Given the description of an element on the screen output the (x, y) to click on. 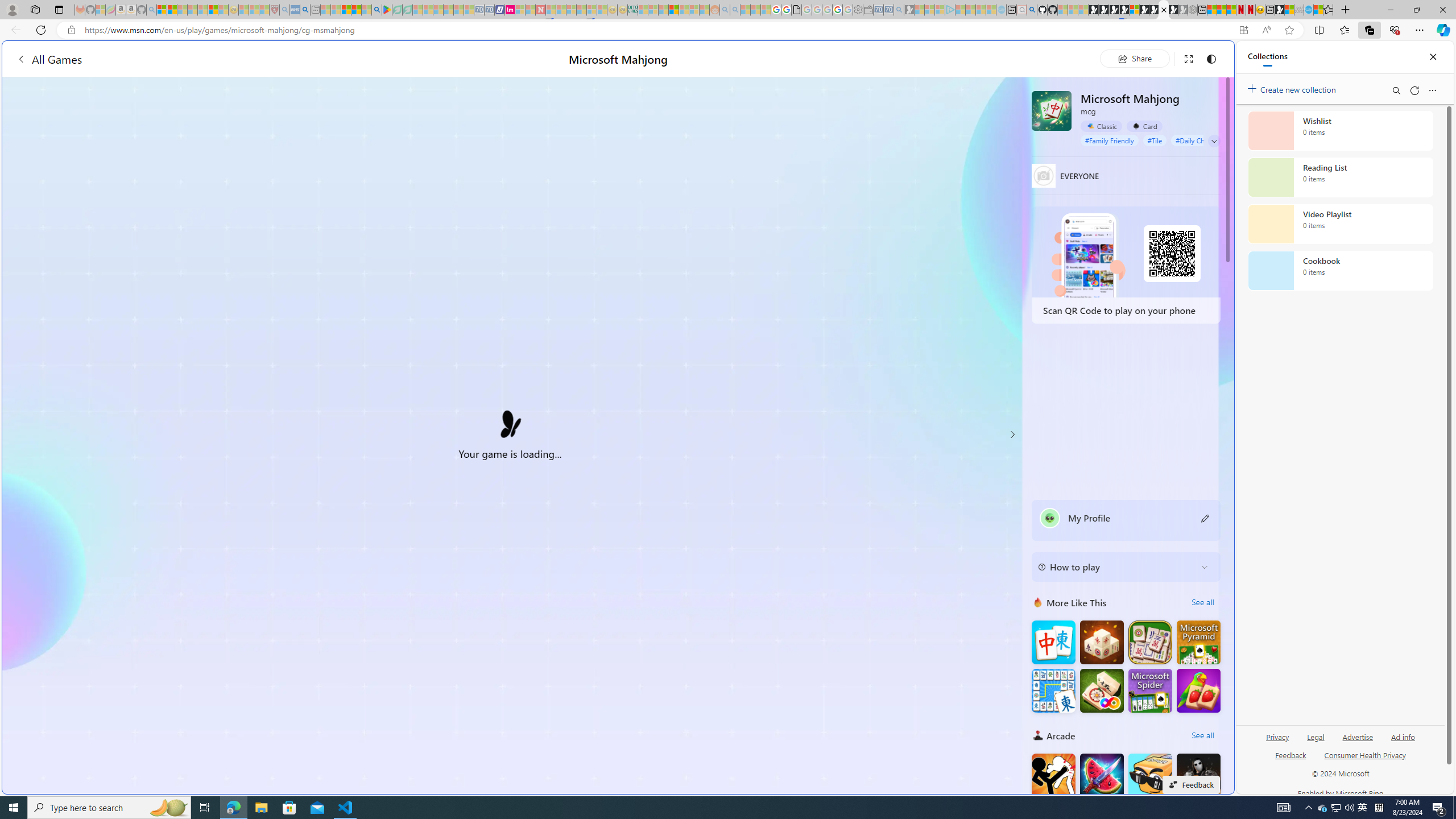
Hunter Hitman (1198, 775)
Cookbook collection, 0 items (1339, 270)
Tabs you've opened (885, 151)
Expert Portfolios (673, 9)
Card (1143, 125)
